Given the description of an element on the screen output the (x, y) to click on. 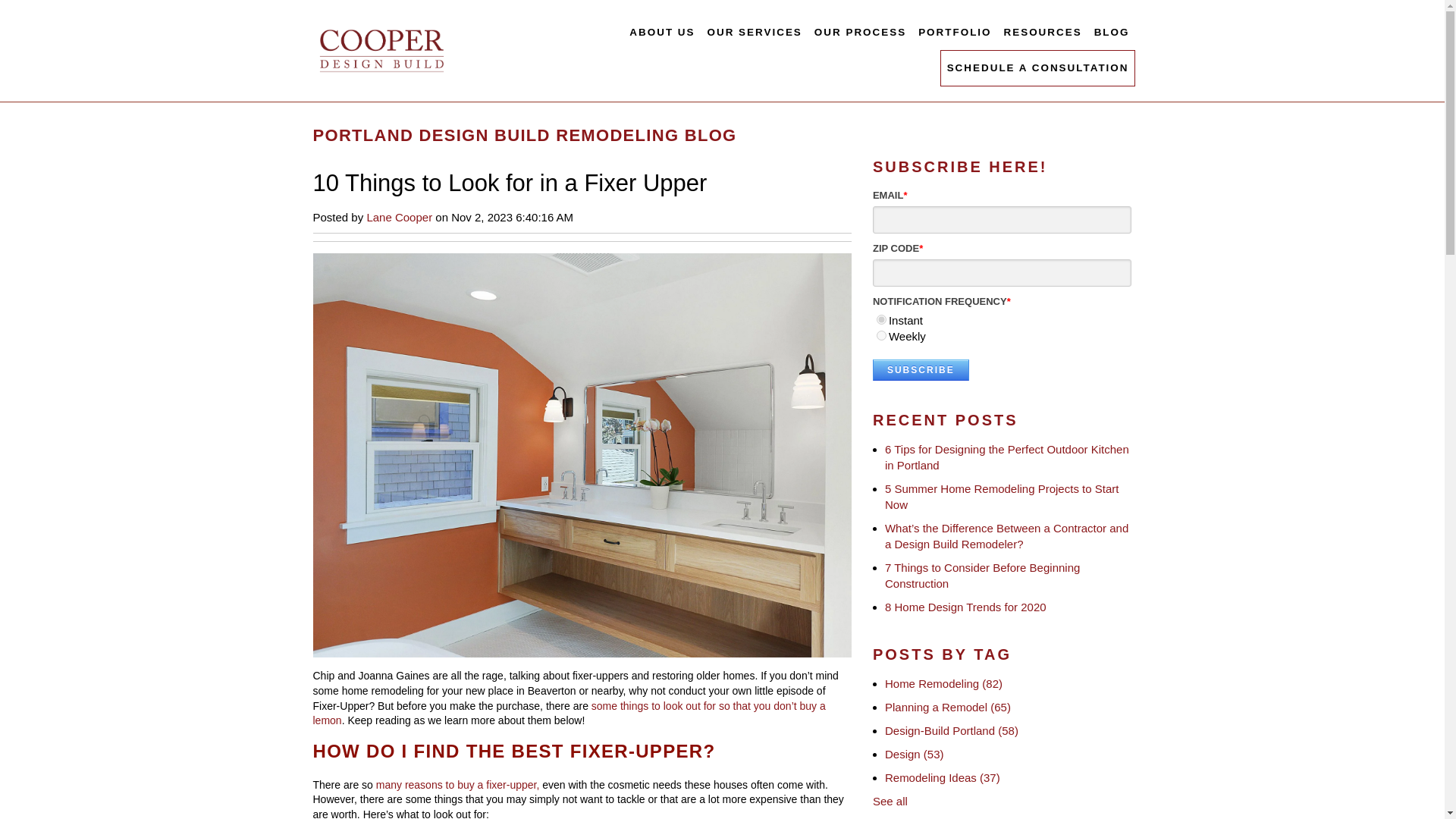
RESOURCES (1042, 32)
many reasons to buy a fixer-upper, (457, 784)
Subscribe (920, 369)
SCHEDULE A CONSULTATION (1037, 67)
8 Home Design Trends for 2020 (965, 606)
5 Summer Home Remodeling Projects to Start Now (1001, 496)
Subscribe (920, 369)
6 Tips for Designing the Perfect Outdoor Kitchen in Portland (1007, 457)
ABOUT US (661, 32)
Lane Cooper (399, 217)
PORTFOLIO (954, 32)
7 Things to Consider Before Beginning Construction (982, 575)
weekly (881, 335)
instant (881, 318)
BLOG (1111, 32)
